Given the description of an element on the screen output the (x, y) to click on. 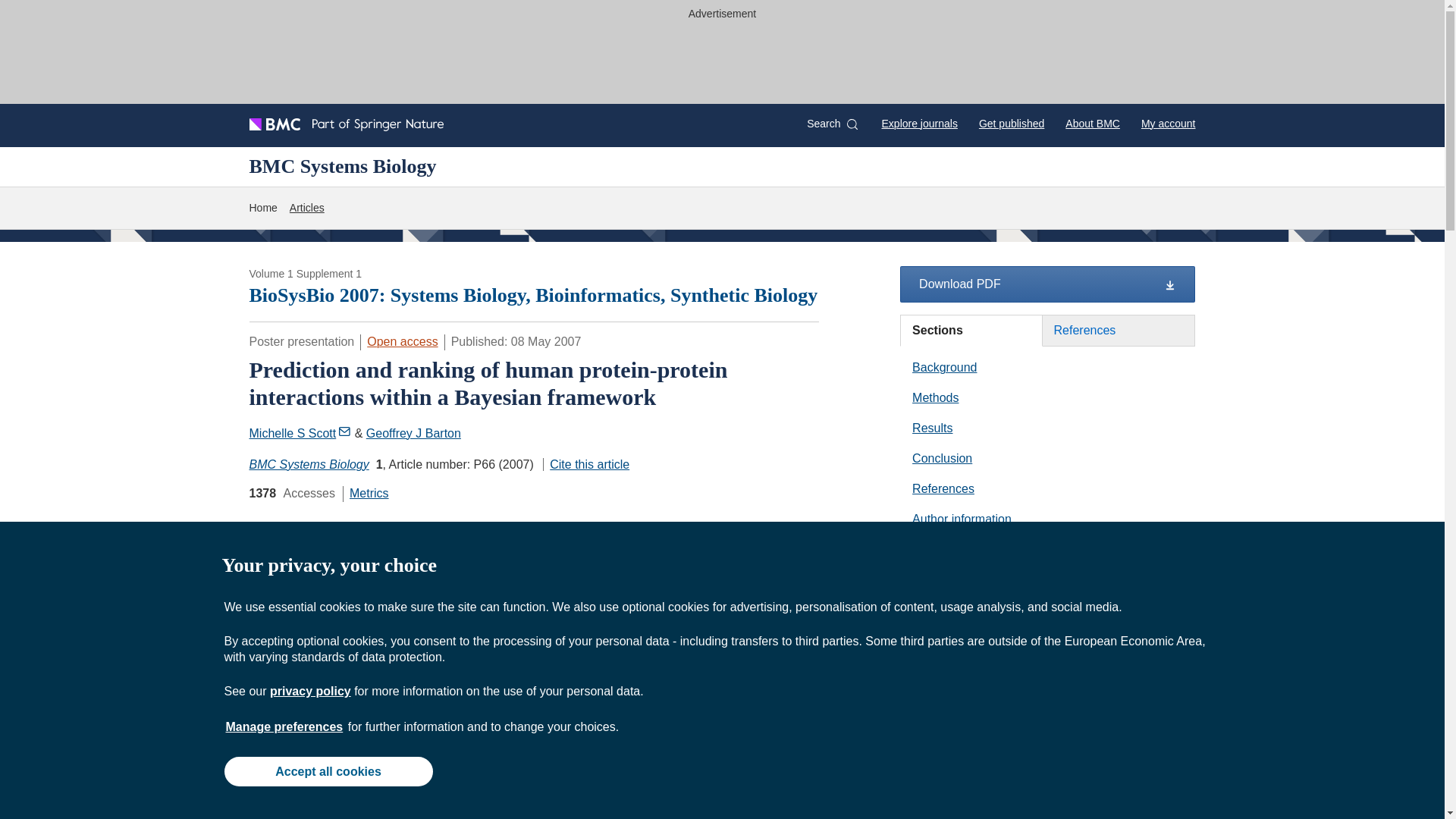
Michelle S Scott (299, 432)
Cite this article (585, 463)
BMC Systems Biology (341, 166)
About BMC (1092, 123)
Manage preferences (284, 726)
Home (262, 208)
Accept all cookies (328, 771)
Articles (306, 208)
